Given the description of an element on the screen output the (x, y) to click on. 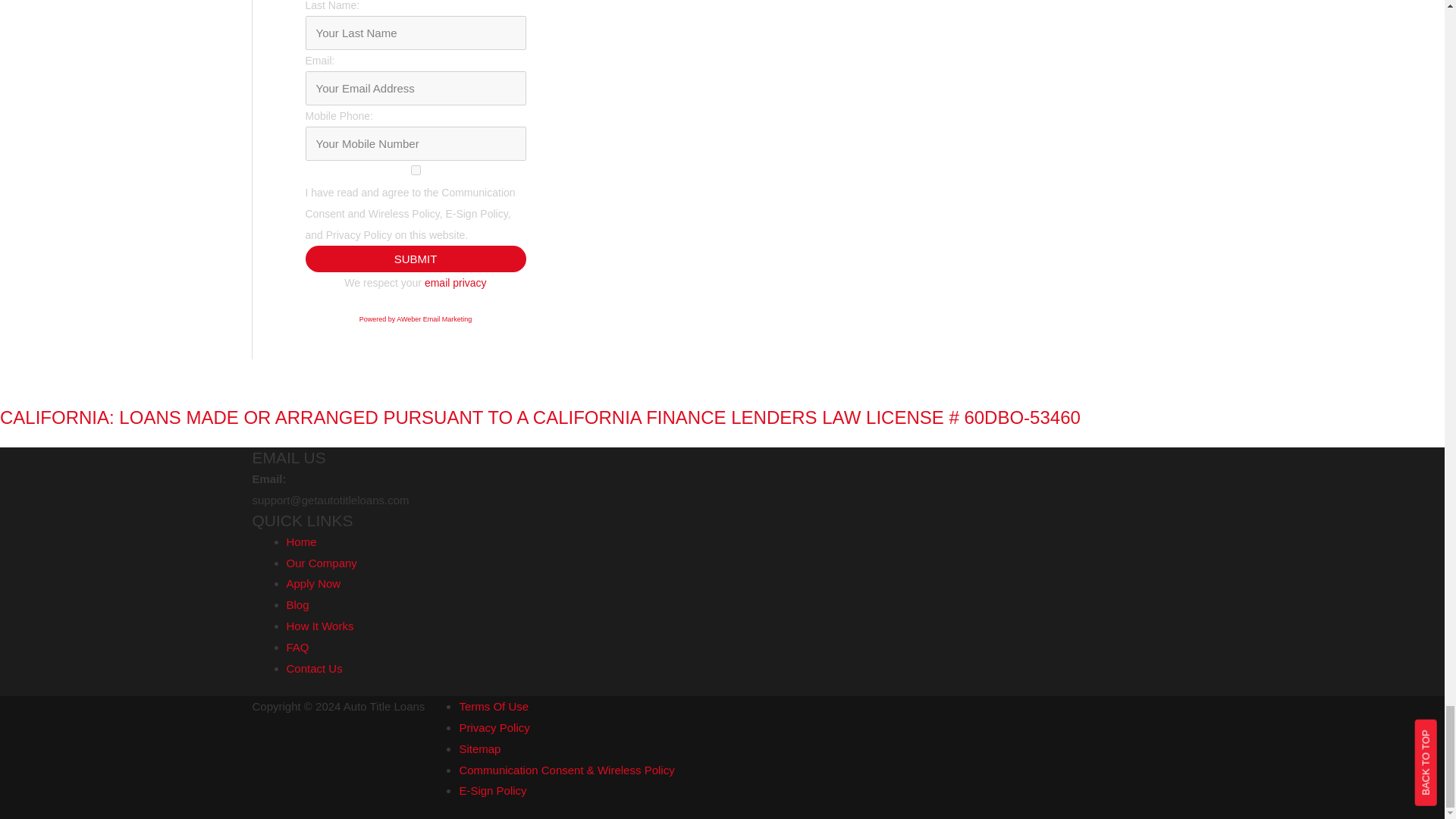
Privacy Policy (493, 727)
Privacy Policy (455, 282)
yes (414, 170)
Powered by AWeber Email Marketing (415, 318)
Your Email Address (414, 88)
Submit (414, 258)
FAQ (297, 646)
Contact Us (314, 667)
Apply Now (313, 583)
Your Mobile Number (414, 143)
AWeber Email Marketing (415, 318)
Sitemap (479, 748)
Submit (414, 258)
Blog (297, 604)
Home (301, 541)
